Given the description of an element on the screen output the (x, y) to click on. 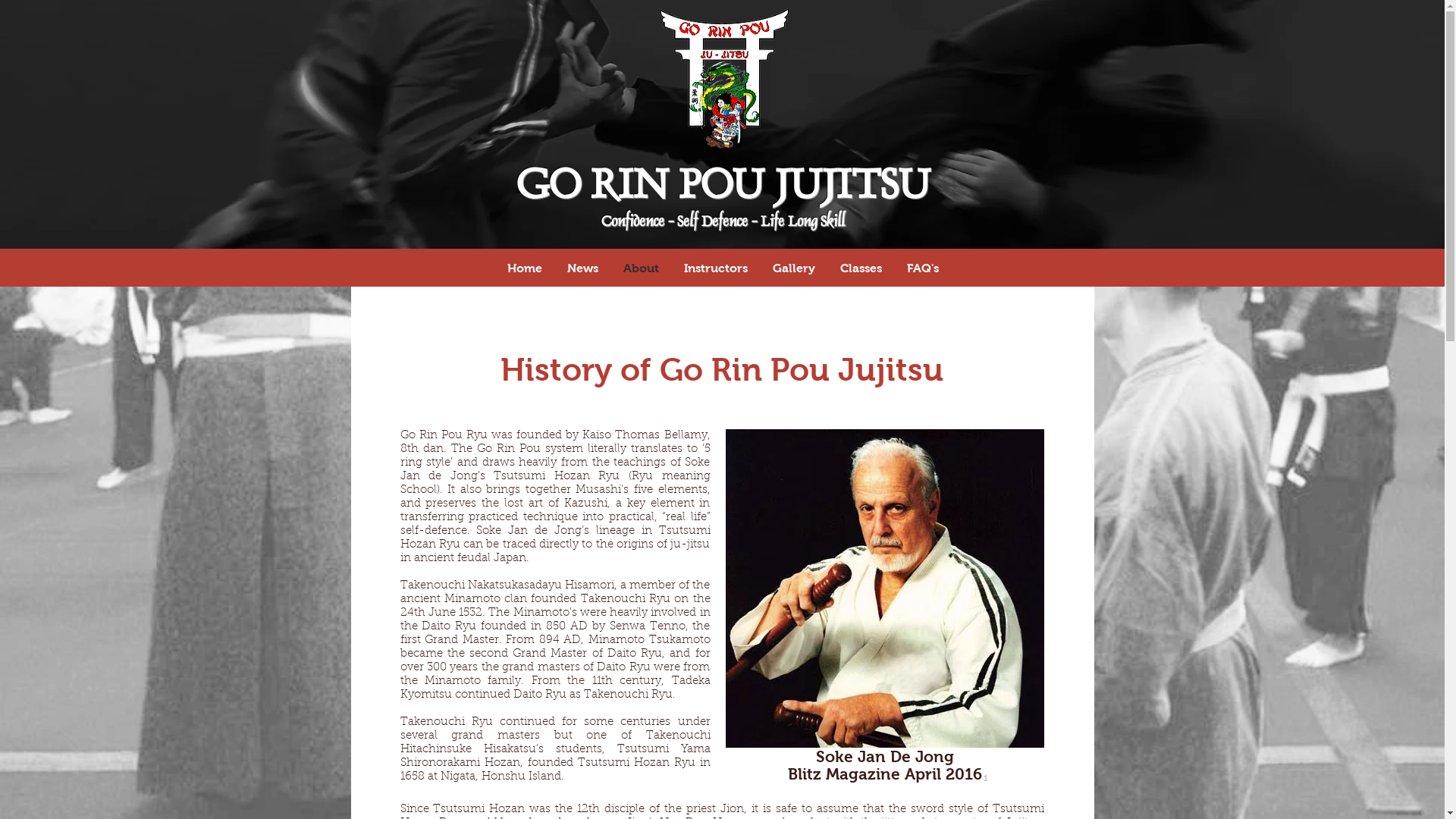
Gallery Element type: text (793, 267)
About Element type: text (641, 267)
Instructors Element type: text (715, 267)
News Element type: text (583, 267)
Home Element type: text (524, 267)
GO RIN POU JUJITSU Element type: text (722, 187)
FAQ's Element type: text (922, 267)
Classes Element type: text (861, 267)
Confidence - Self Defence - Life Long Skill Element type: text (722, 222)
